Given the description of an element on the screen output the (x, y) to click on. 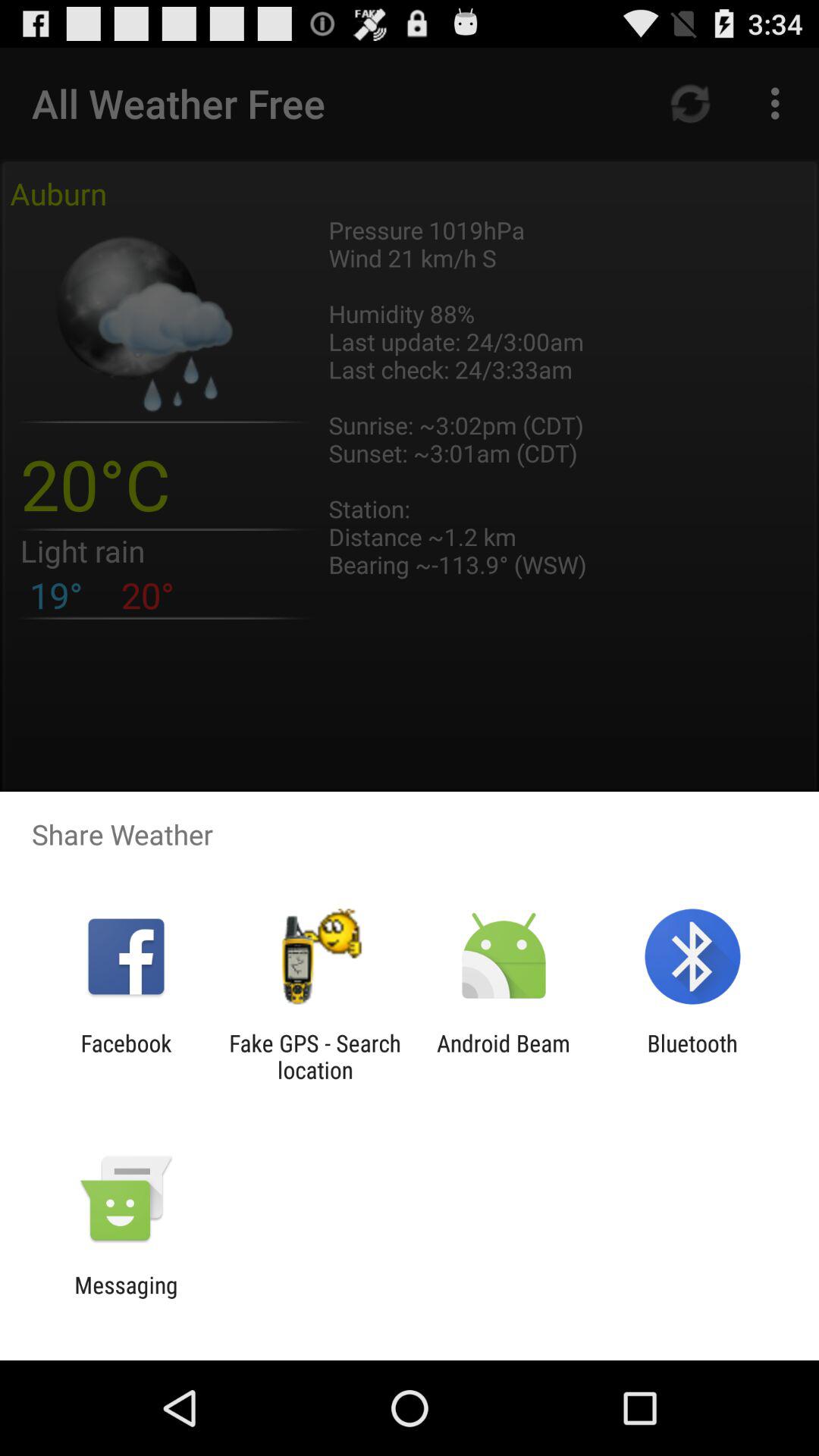
turn on the item next to facebook app (314, 1056)
